Given the description of an element on the screen output the (x, y) to click on. 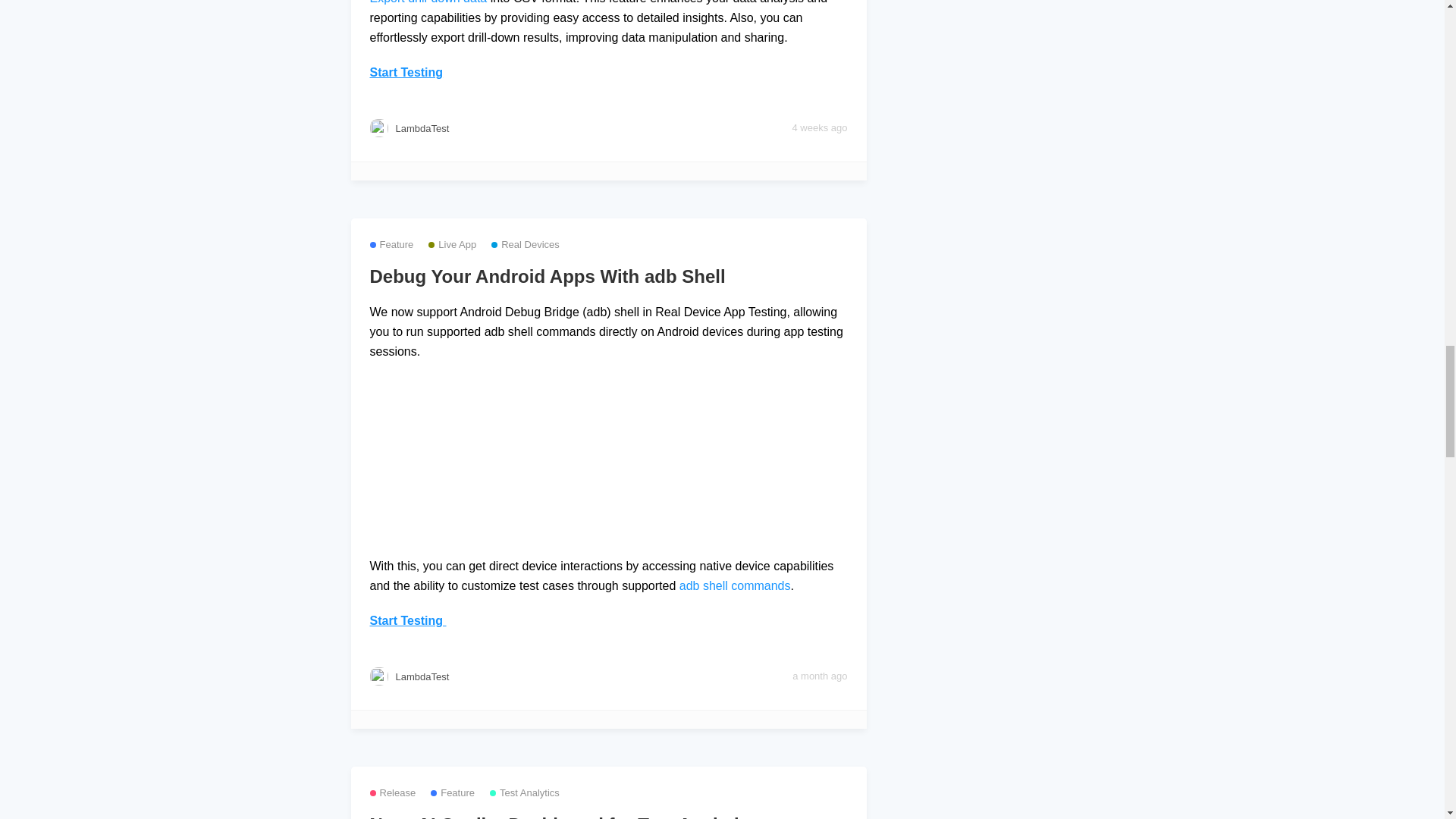
a month ago (819, 676)
adb shell commands (734, 585)
Start Testing (406, 72)
Export drill-down data (428, 2)
Start Testing  (407, 620)
4 weeks ago (819, 127)
Debug Your Android Apps With adb Shell (608, 276)
